Given the description of an element on the screen output the (x, y) to click on. 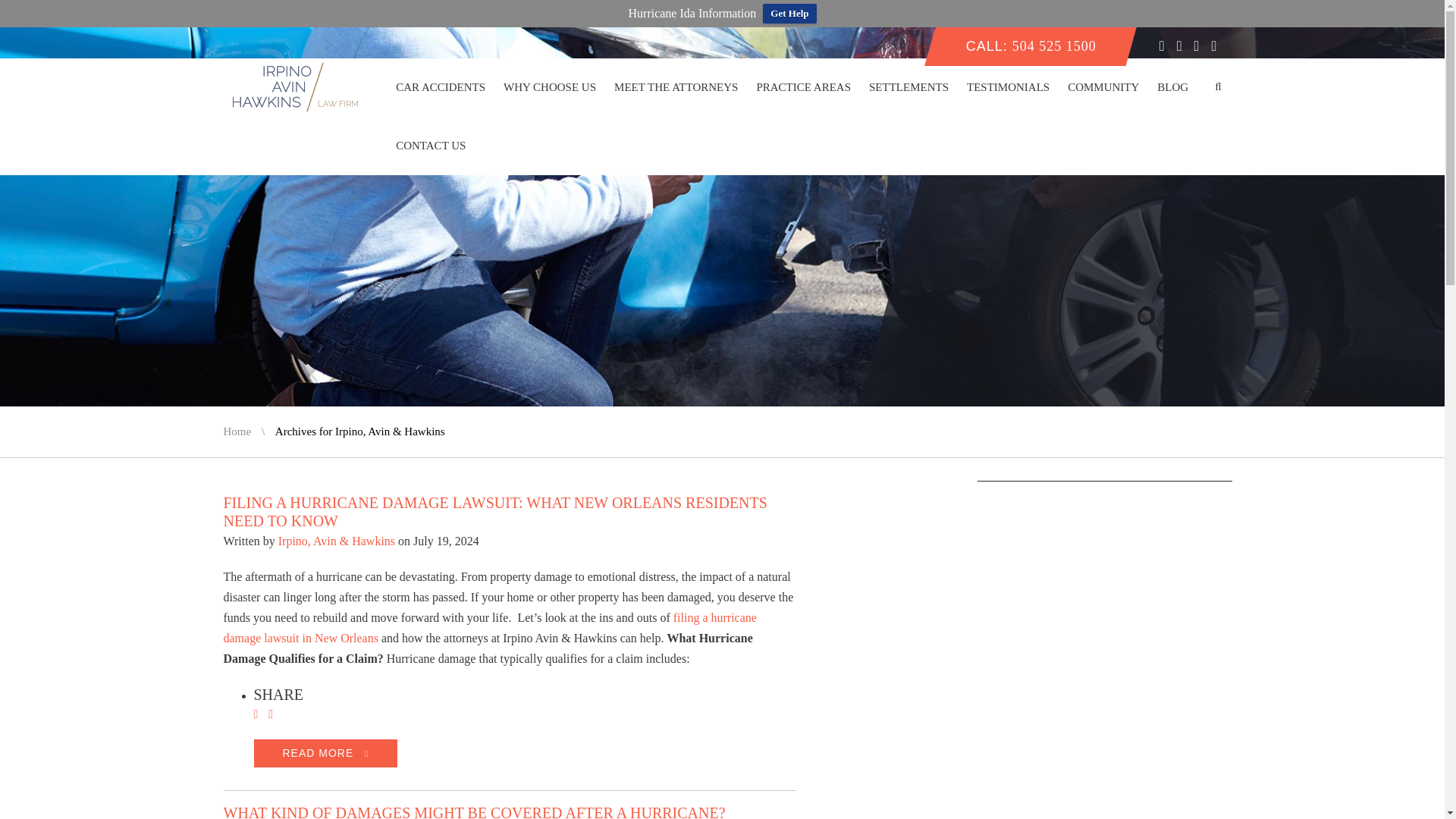
CAR ACCIDENTS (440, 87)
PRACTICE AREAS (803, 87)
Get Help (788, 13)
MEET THE ATTORNEYS (676, 87)
504 525 1500 (1053, 46)
WHY CHOOSE US (550, 87)
